Given the description of an element on the screen output the (x, y) to click on. 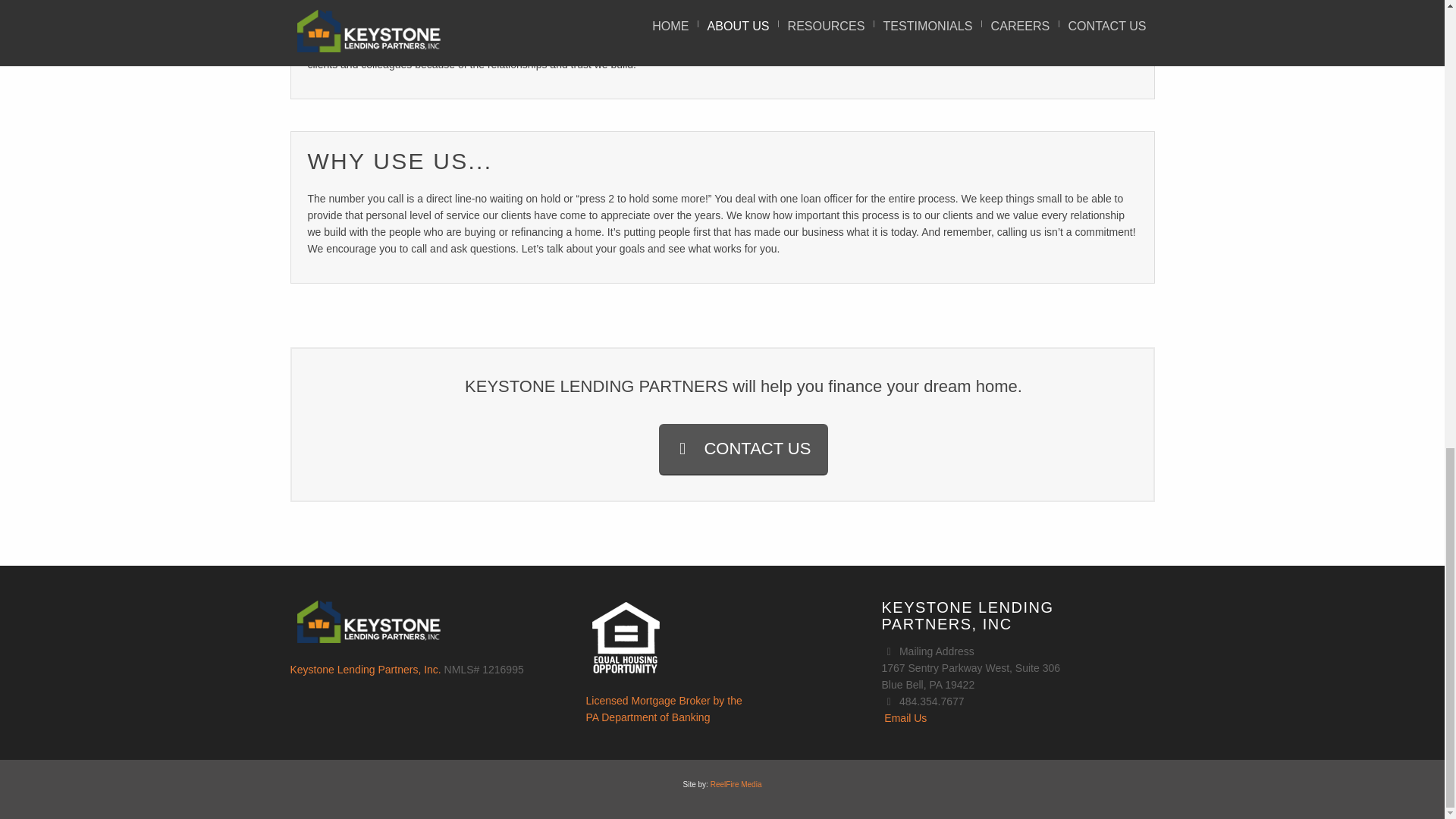
Keystone Lending Partners (663, 708)
Email Us (904, 717)
CONTACT US (663, 708)
Keystone Lending Partners (743, 449)
ReelFire Media (365, 669)
Keystone Lending Partners, Inc. (735, 784)
